Given the description of an element on the screen output the (x, y) to click on. 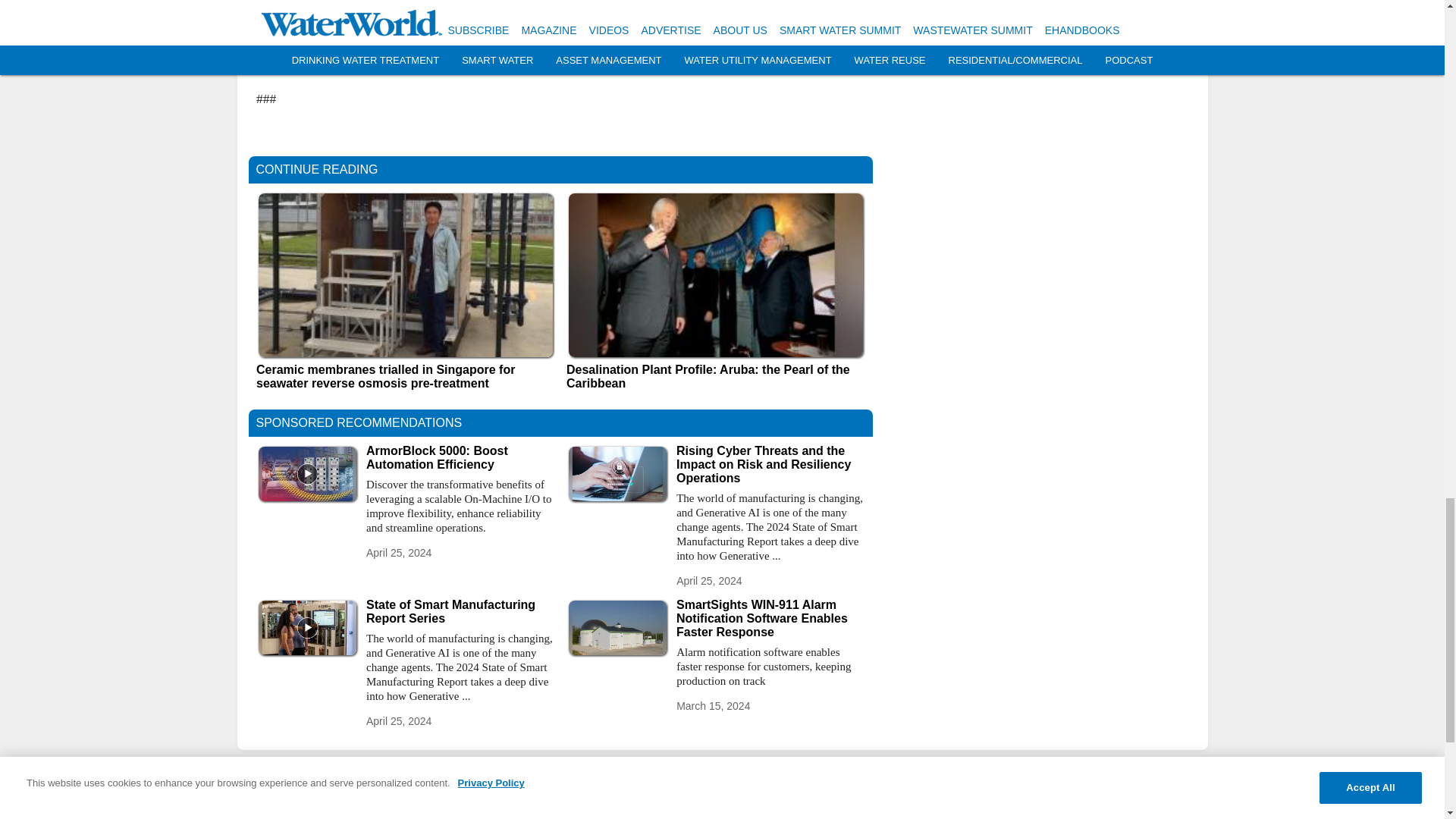
State of Smart Manufacturing Report Series (459, 611)
ArmorBlock 5000: Boost Automation Efficiency (459, 457)
